Given the description of an element on the screen output the (x, y) to click on. 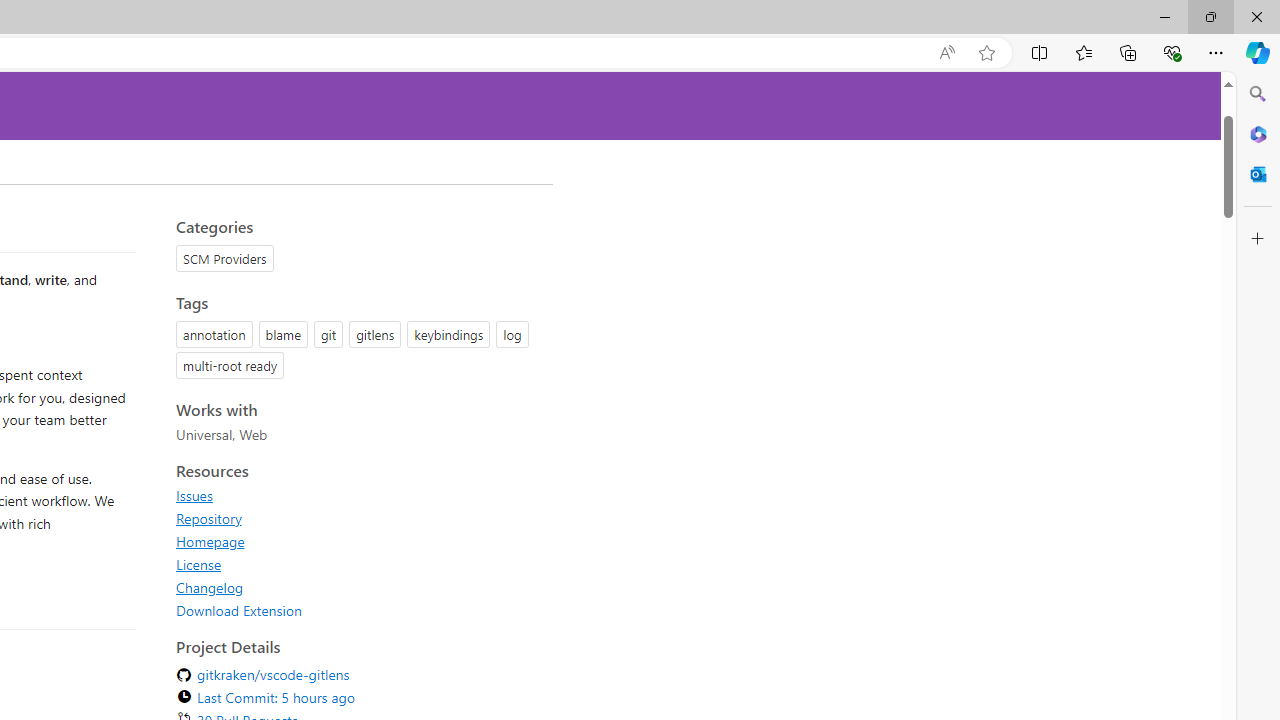
Download Extension (239, 610)
Changelog (210, 587)
Repository (208, 518)
